Given the description of an element on the screen output the (x, y) to click on. 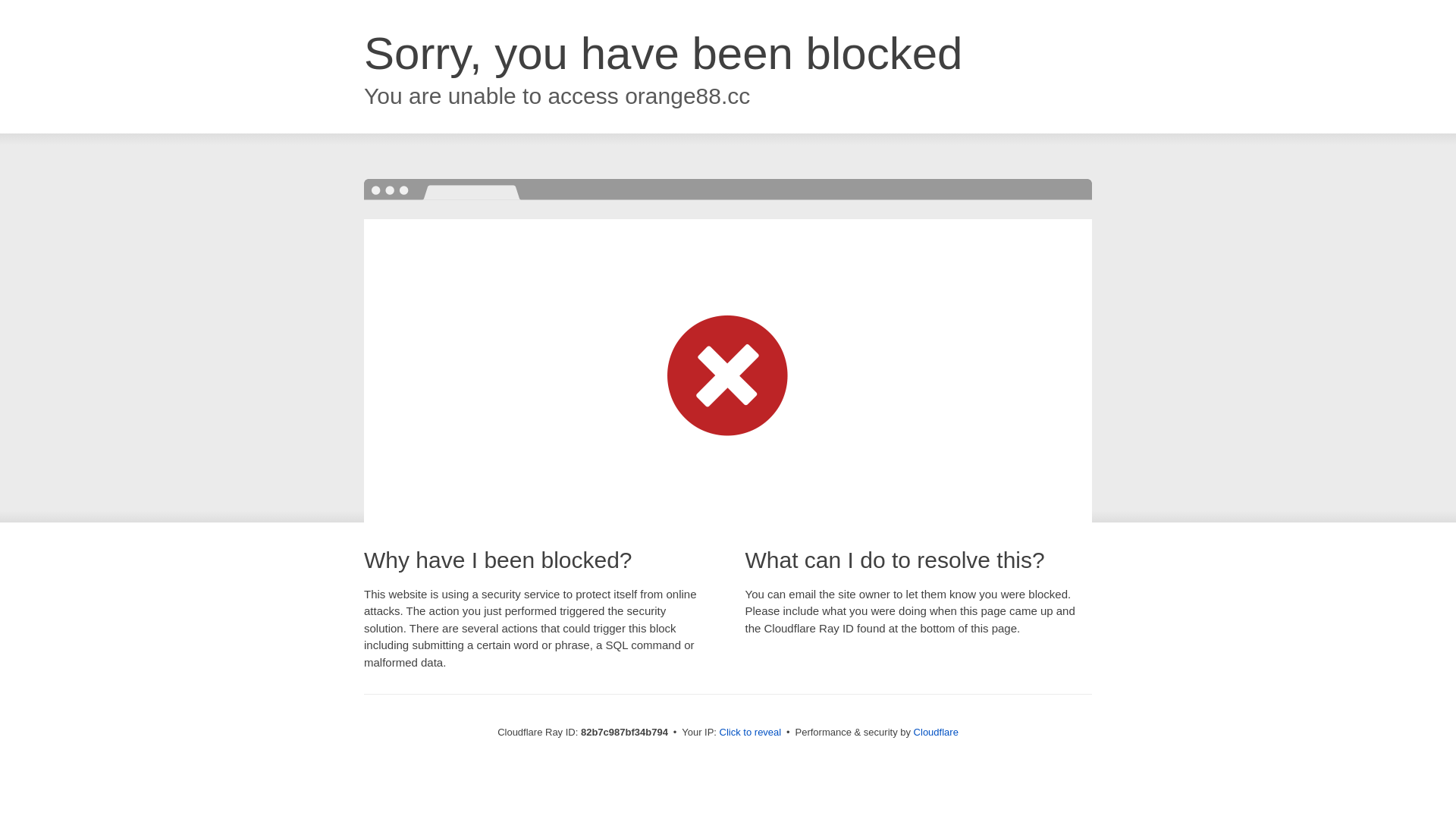
Click to reveal Element type: text (750, 732)
Cloudflare Element type: text (935, 731)
